Given the description of an element on the screen output the (x, y) to click on. 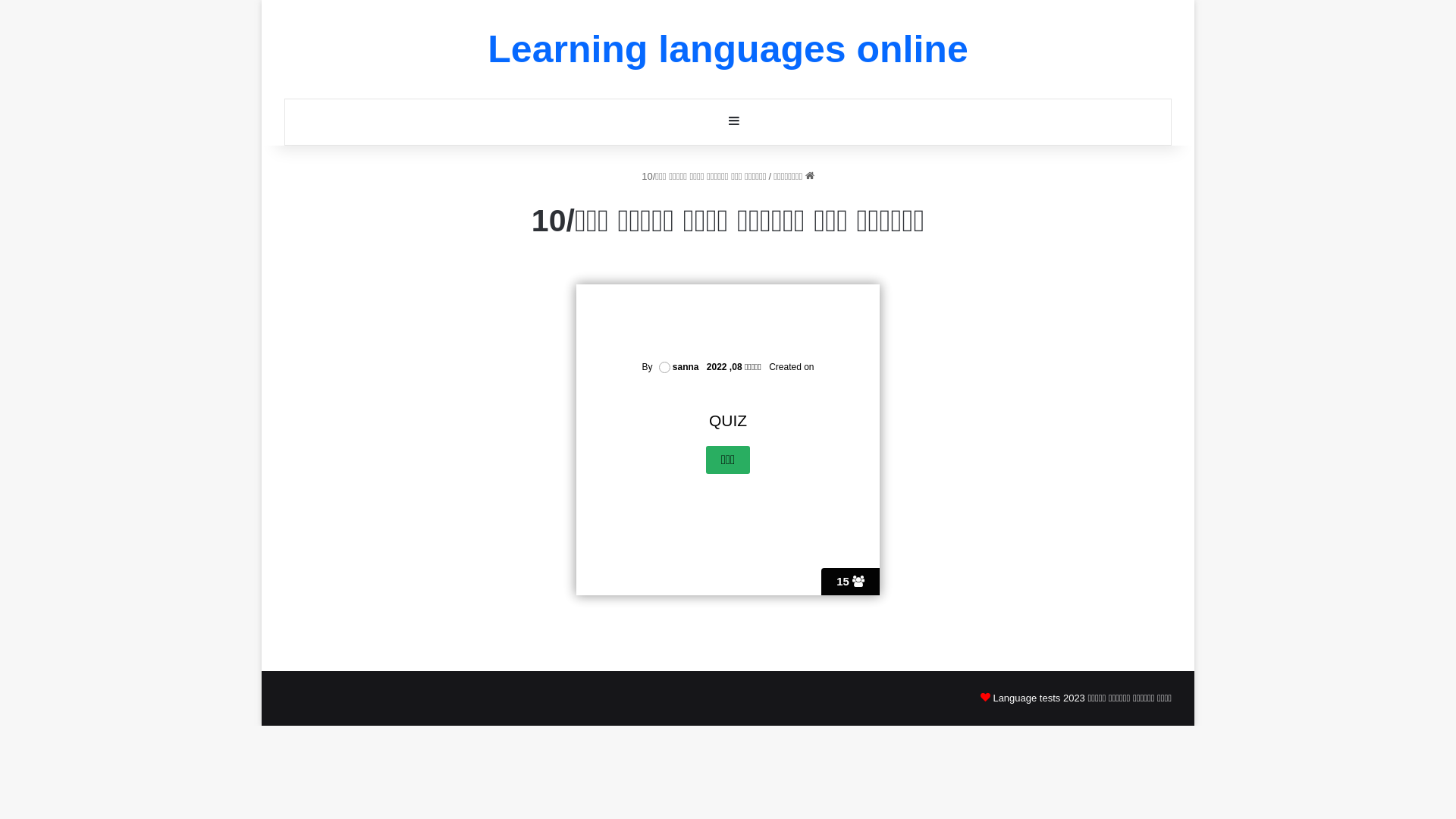
Learning languages online Element type: text (727, 49)
